Given the description of an element on the screen output the (x, y) to click on. 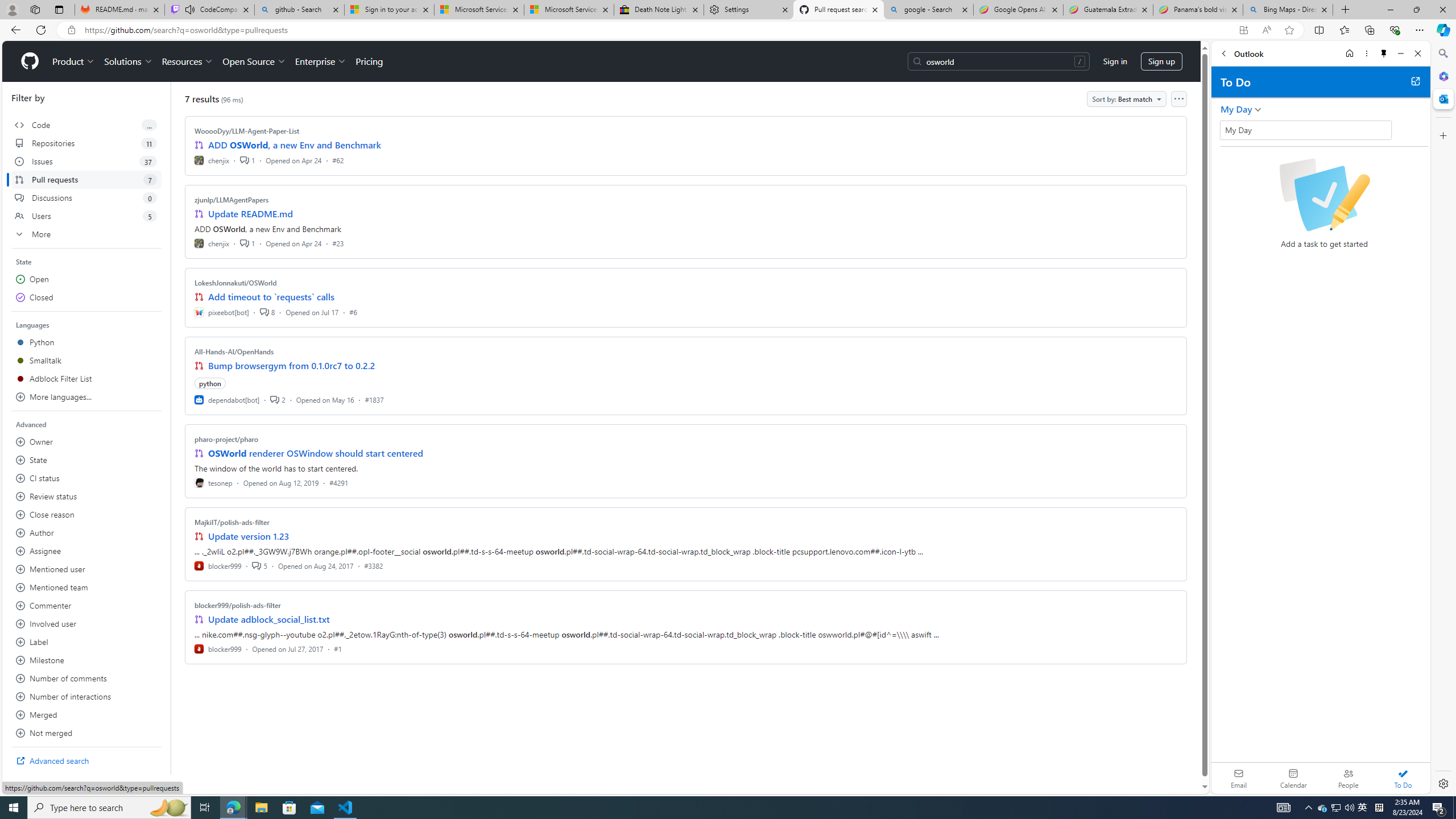
MajkiIT/polish-ads-filter (232, 521)
Microsoft 365 (1442, 76)
Advanced search (86, 760)
Sign in (1115, 61)
Open Source (254, 60)
1 (246, 242)
More languages... (86, 397)
LokeshJonnakuti/OSWorld (235, 282)
8 (267, 311)
Update README.md (250, 213)
